Given the description of an element on the screen output the (x, y) to click on. 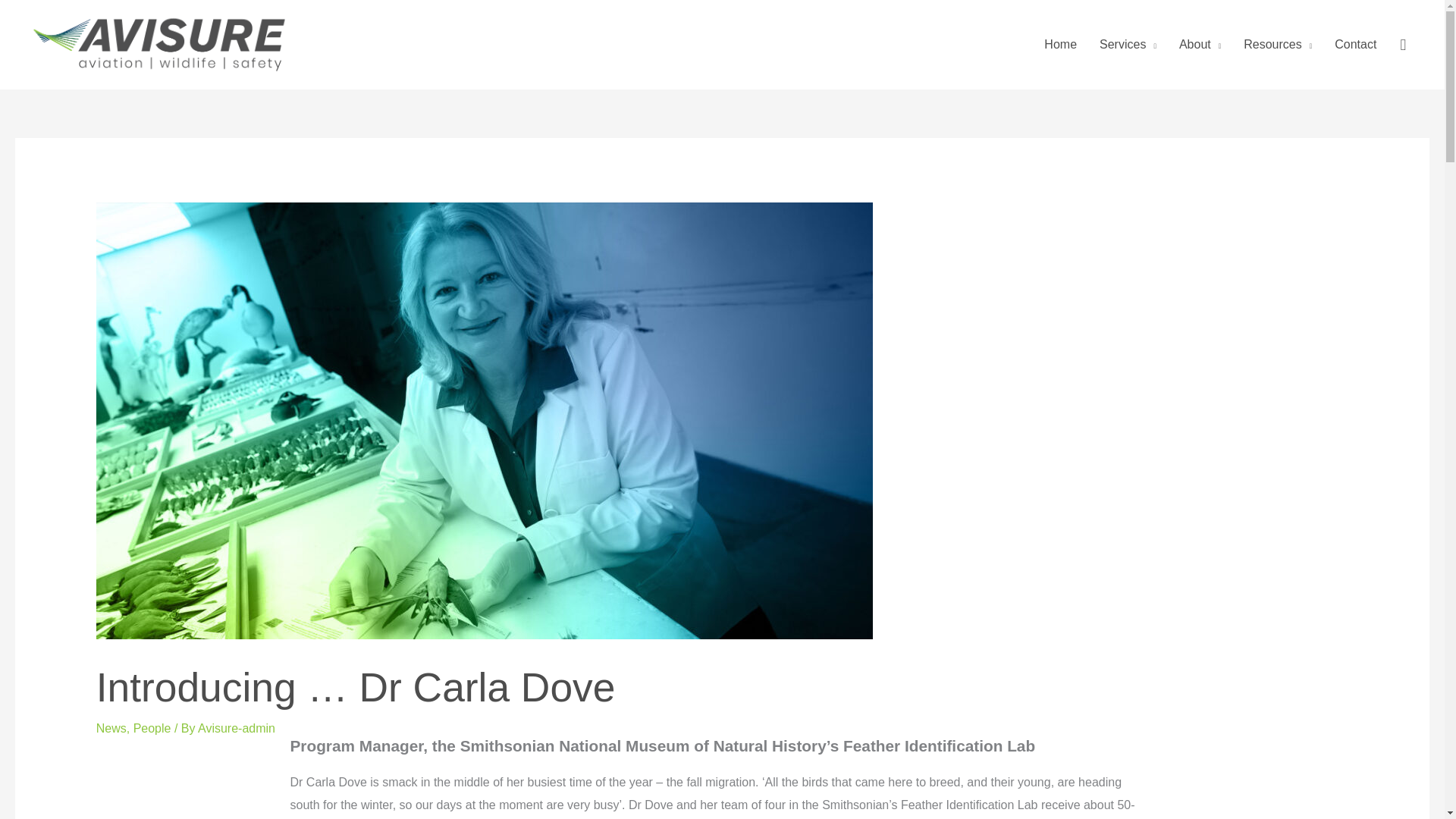
View all posts by Avisure-admin (236, 727)
Services (1127, 44)
Resources (1277, 44)
About (1199, 44)
